Given the description of an element on the screen output the (x, y) to click on. 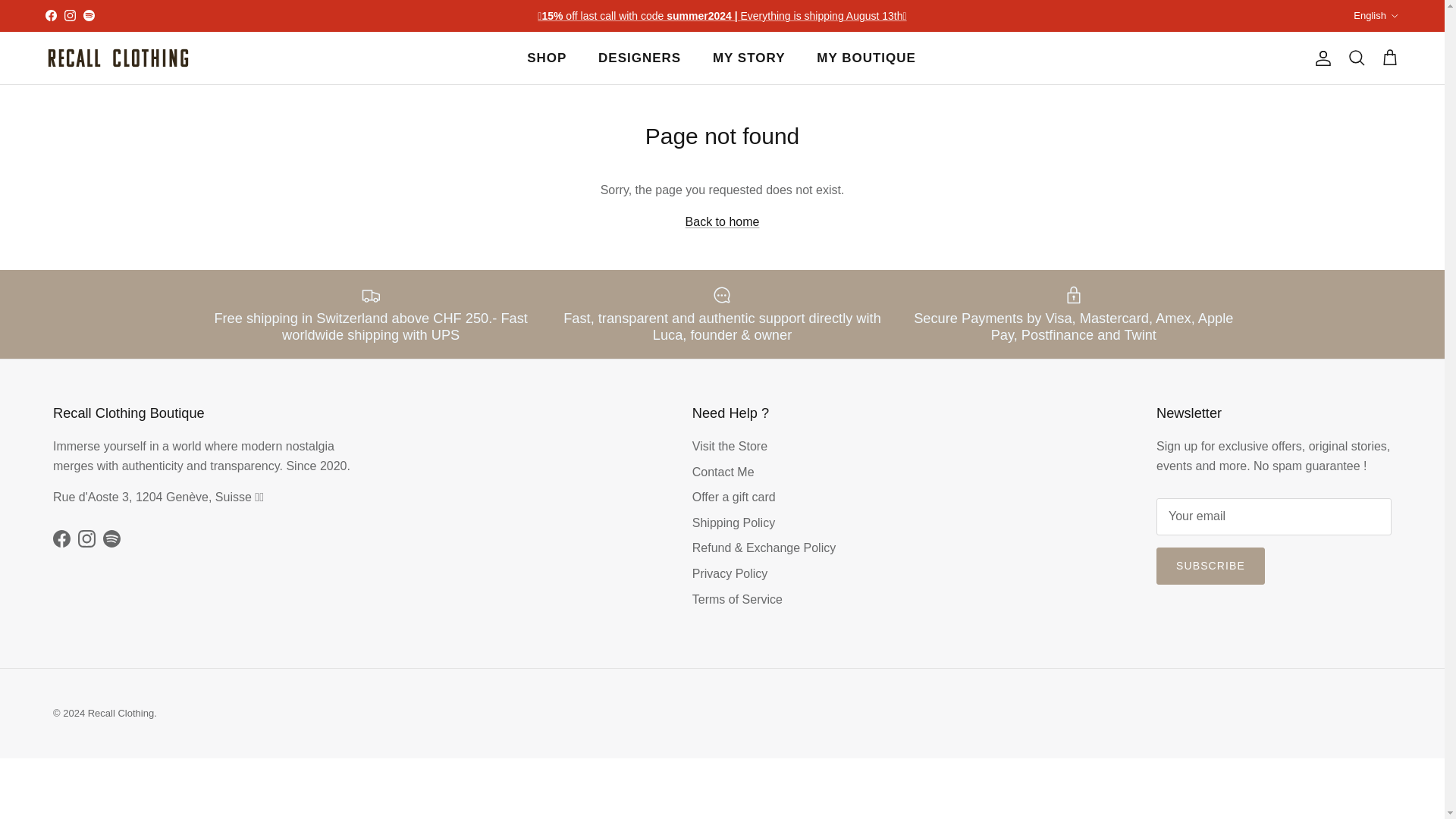
MY STORY (748, 58)
Instagram (69, 15)
Recall Clothing on Instagram (69, 15)
Spotify (88, 15)
Recall Clothing (117, 57)
Facebook (50, 15)
SHOP (546, 58)
Account (1319, 58)
MY BOUTIQUE (866, 58)
Recall Clothing on Instagram (87, 538)
DESIGNERS (639, 58)
Recall Clothing on Spotify (111, 538)
Last Call (721, 15)
Recall Clothing on Spotify (88, 15)
Recall Clothing on Facebook (60, 538)
